Given the description of an element on the screen output the (x, y) to click on. 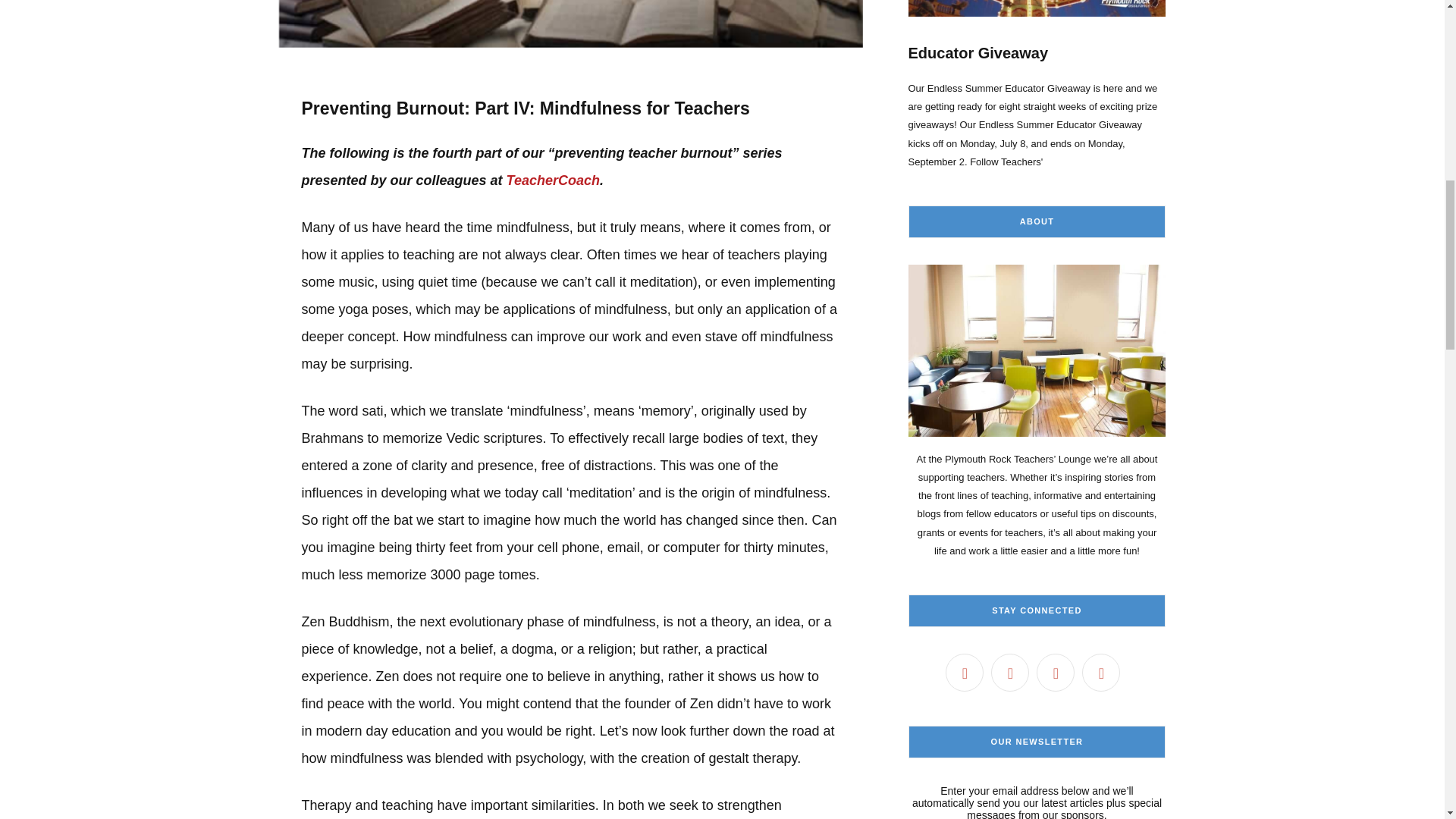
Educator Giveaway (1037, 84)
TeacherCoach (552, 180)
Twitter (1010, 672)
Instagram (1055, 672)
Facebook (964, 672)
Preventing Burnout Part IV: Mindfulness for Teachers (571, 23)
